Given the description of an element on the screen output the (x, y) to click on. 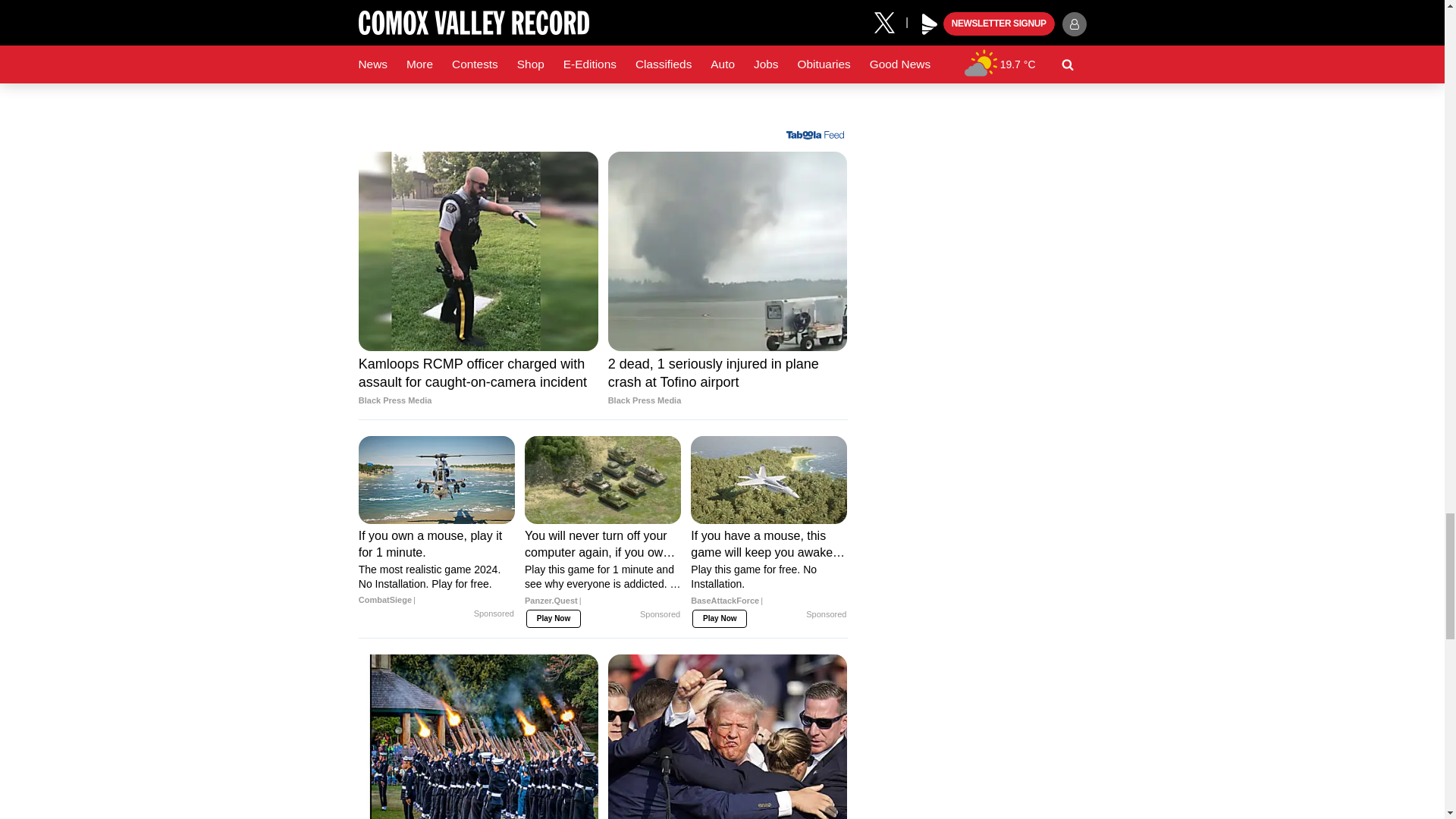
3rd party ad content (602, 63)
